Given the description of an element on the screen output the (x, y) to click on. 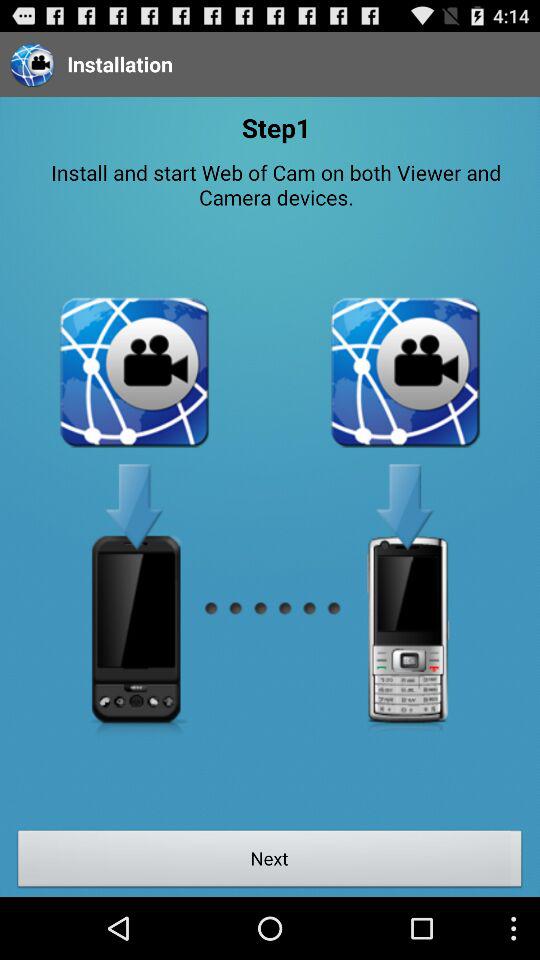
click the icon at the bottom (269, 861)
